Given the description of an element on the screen output the (x, y) to click on. 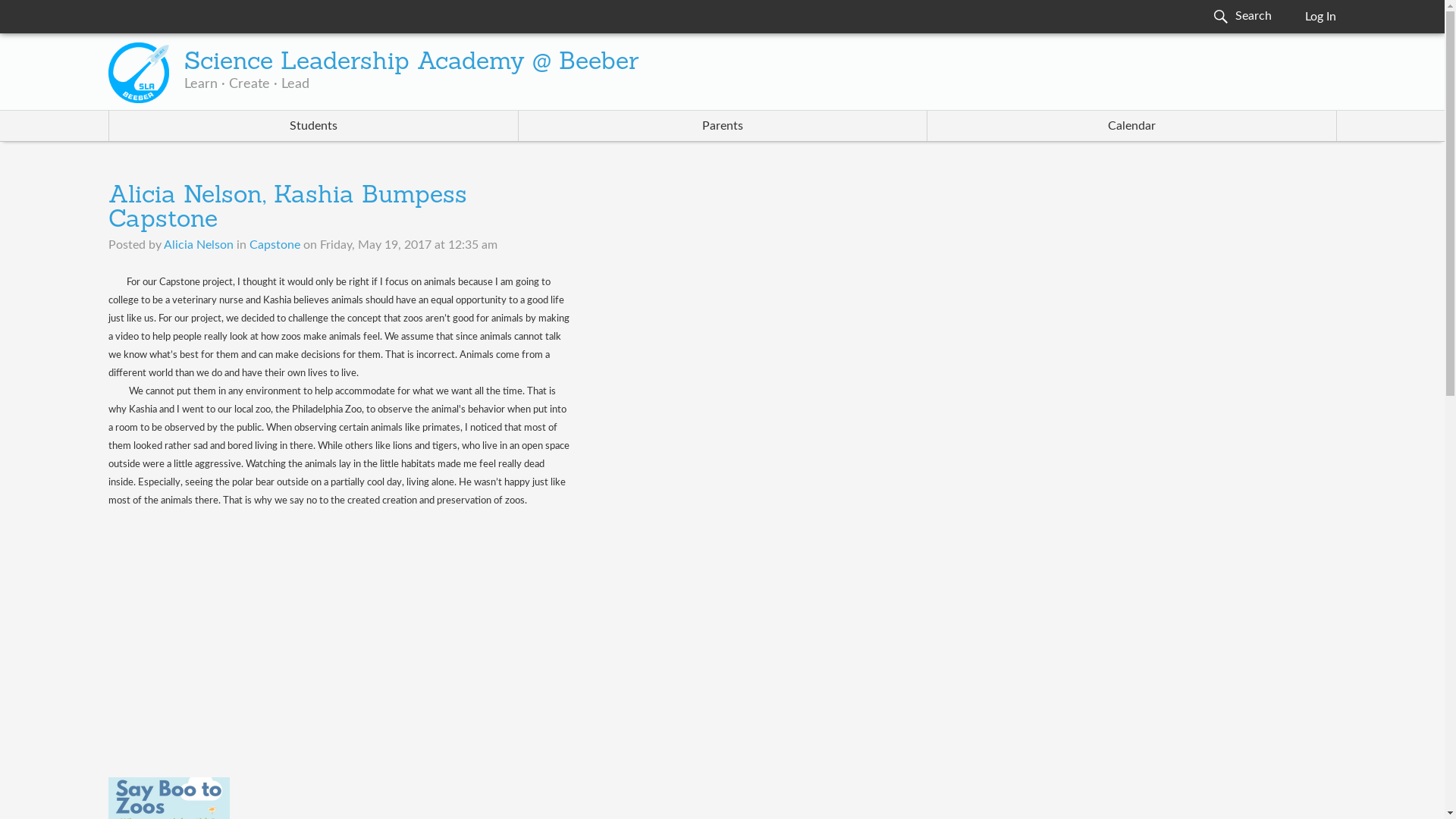
Log In (1320, 16)
Log In (1320, 16)
Parents (722, 125)
Calendar (1131, 125)
Students (313, 125)
Alicia Nelson (197, 244)
Calendar (1131, 125)
Students (313, 125)
Capstone (273, 244)
Alicia Nelson, Kashia Bumpess Capstone (287, 208)
